Given the description of an element on the screen output the (x, y) to click on. 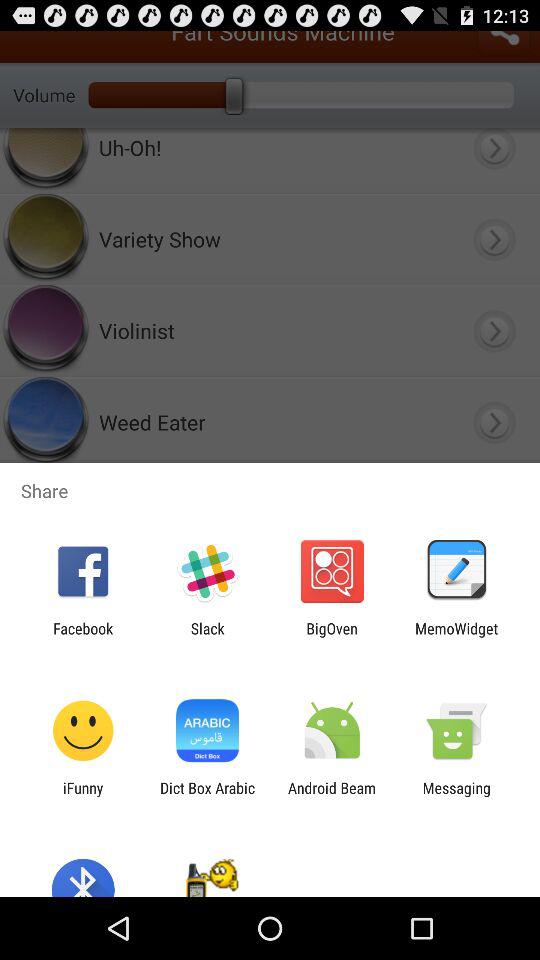
turn off item next to the memowidget app (331, 637)
